Given the description of an element on the screen output the (x, y) to click on. 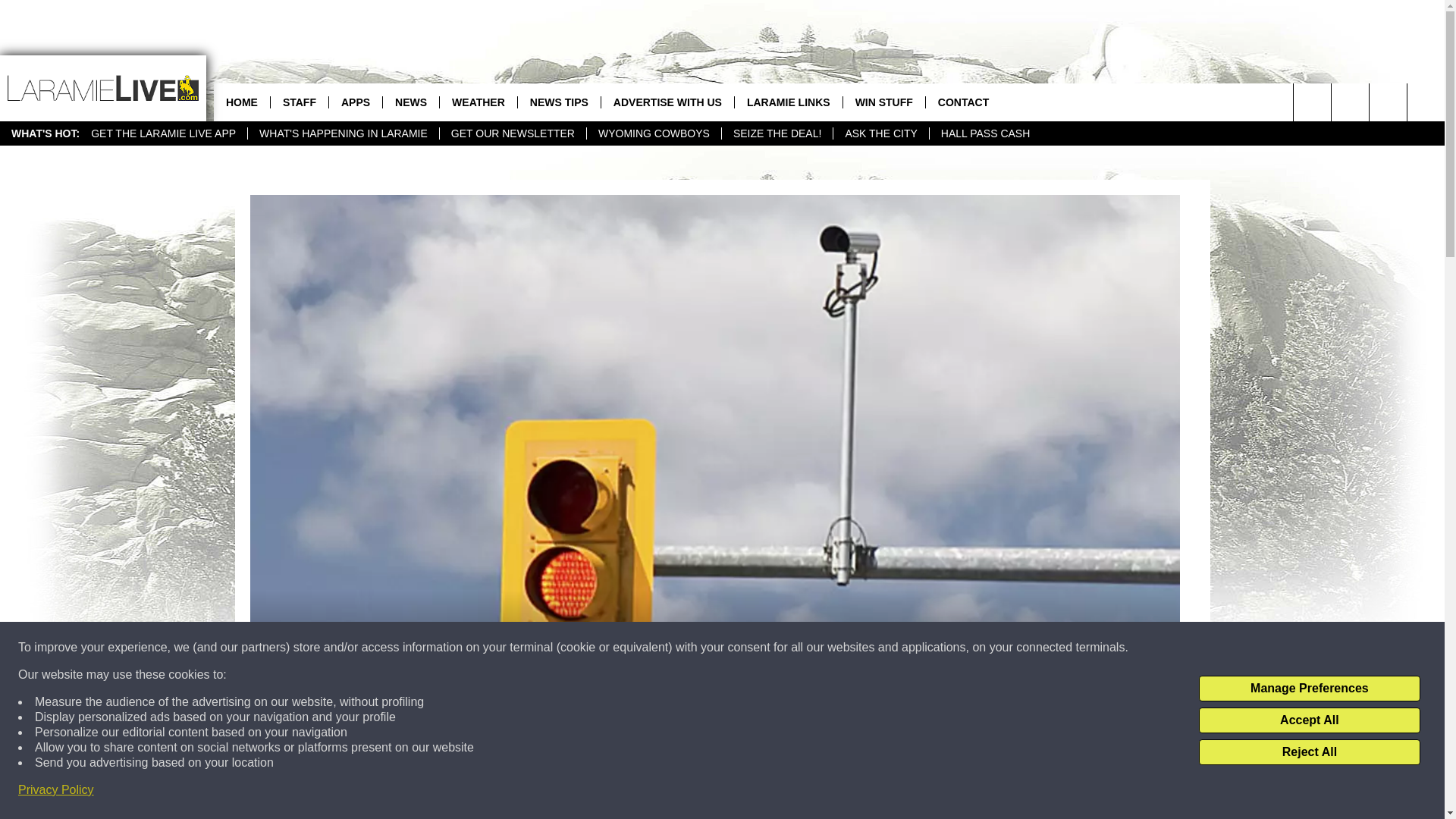
NEWS (410, 102)
Share on Twitter (912, 812)
LARAMIE LINKS (788, 102)
WIN STUFF (883, 102)
STAFF (299, 102)
WEATHER (477, 102)
APPS (355, 102)
ADVERTISE WITH US (666, 102)
Privacy Policy (55, 789)
Manage Preferences (1309, 688)
Share on Facebook (517, 812)
Accept All (1309, 720)
HOME (241, 102)
GET OUR NEWSLETTER (512, 133)
HALL PASS CASH (985, 133)
